Given the description of an element on the screen output the (x, y) to click on. 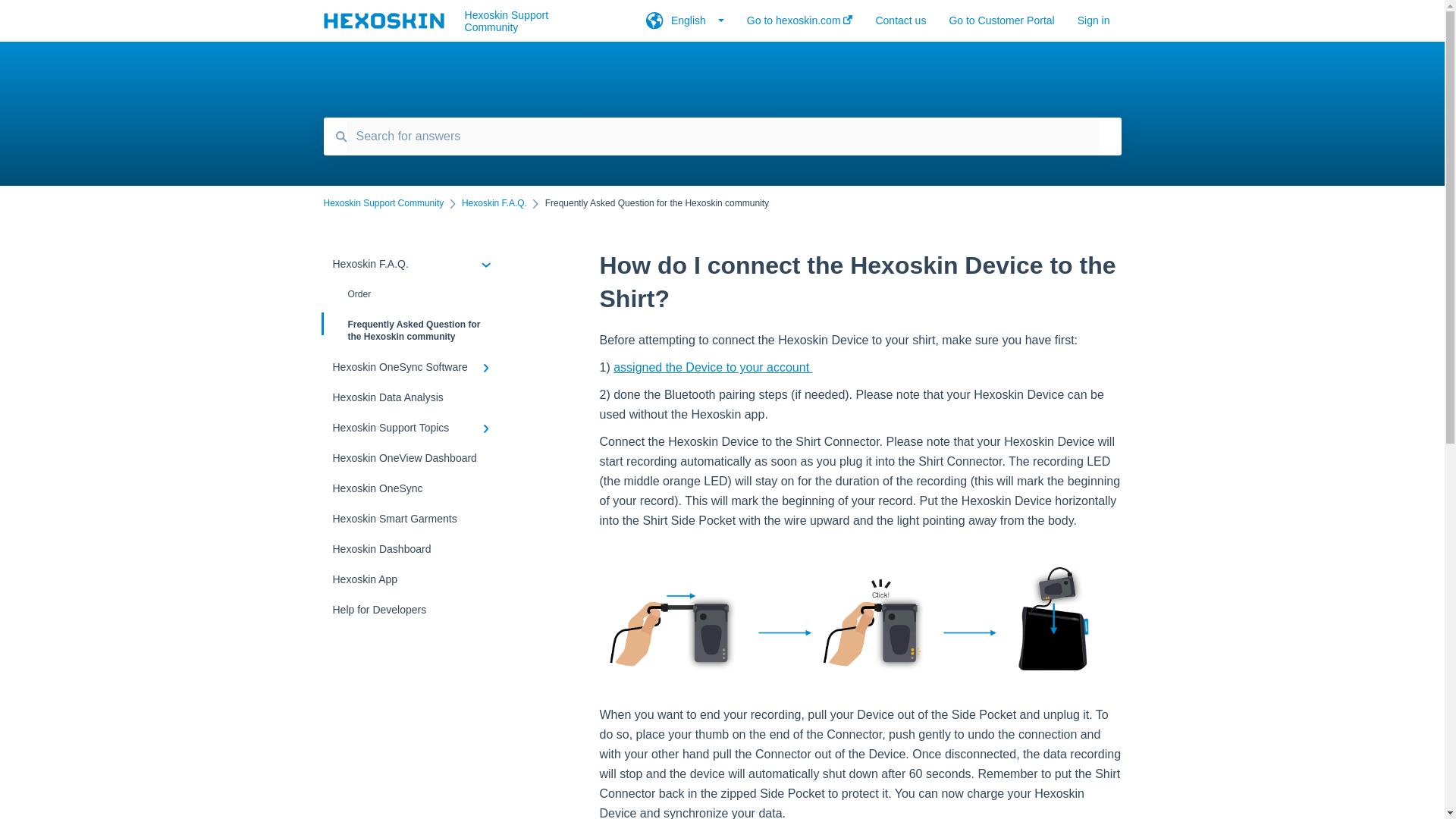
Hexoskin F.A.Q. (494, 203)
Hexoskin F.A.Q. (414, 263)
Contact us (900, 25)
Order (414, 294)
Hexoskin OneSync Software (414, 367)
Hexoskin Support Community (383, 203)
Frequently Asked Question for the Hexoskin community (414, 330)
Hexoskin Data Analysis (414, 397)
Hexoskin Support Community (531, 21)
Go to Customer Portal (1001, 25)
Go to hexoskin.com (799, 25)
English (684, 25)
